Given the description of an element on the screen output the (x, y) to click on. 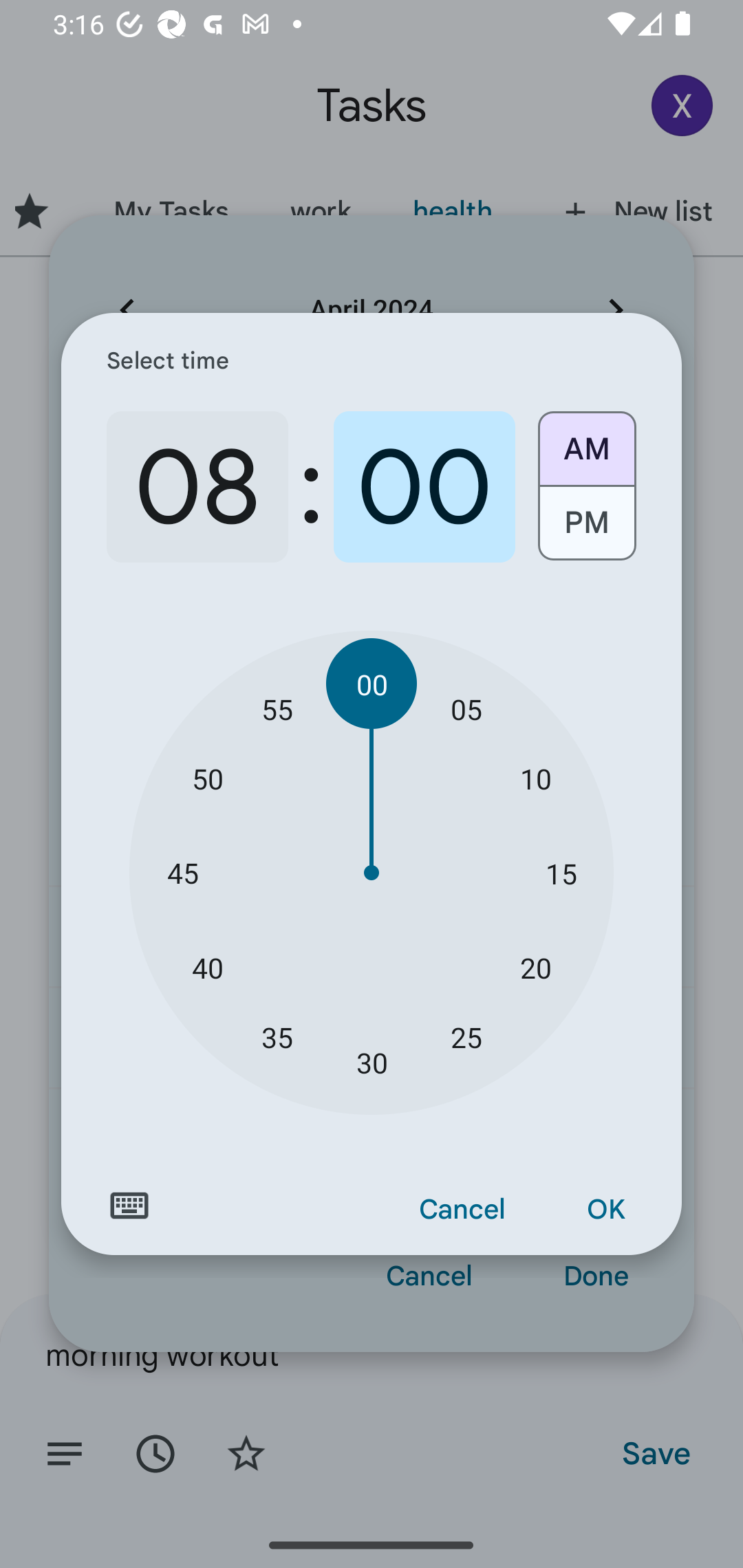
AM (586, 441)
08 8 o'clock (197, 486)
00 0 minutes (424, 486)
PM (586, 529)
00 00 minutes (371, 683)
55 55 minutes (276, 708)
05 05 minutes (466, 708)
50 50 minutes (207, 778)
10 10 minutes (535, 778)
45 45 minutes (182, 872)
15 15 minutes (561, 872)
40 40 minutes (207, 966)
20 20 minutes (535, 966)
35 35 minutes (276, 1035)
25 25 minutes (466, 1035)
30 30 minutes (371, 1062)
Switch to text input mode for the time input. (128, 1205)
Cancel (462, 1209)
OK (605, 1209)
